Given the description of an element on the screen output the (x, y) to click on. 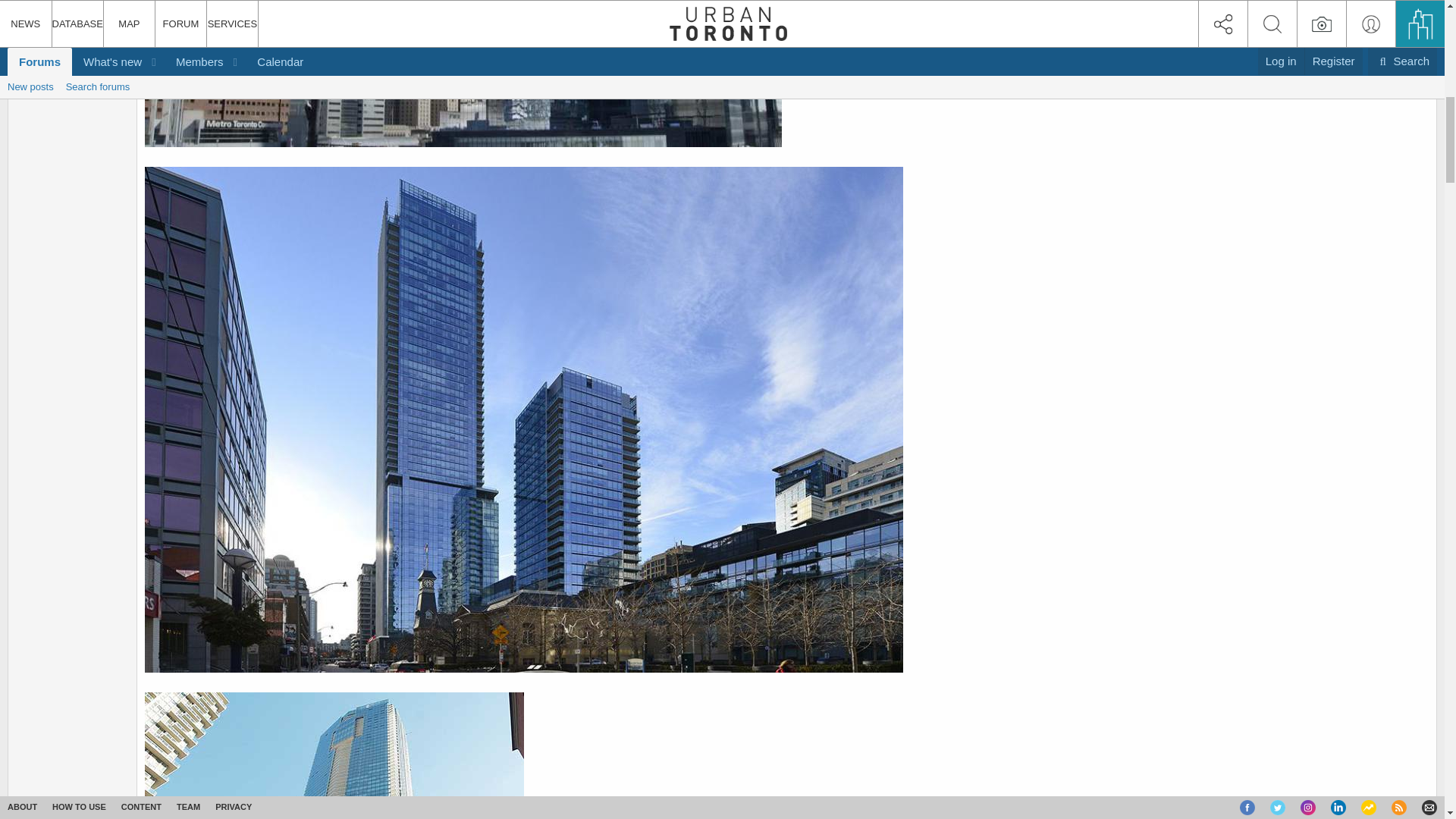
delta-jpg.88455 (462, 75)
shangri-la-jpg.88457 (334, 755)
